Given the description of an element on the screen output the (x, y) to click on. 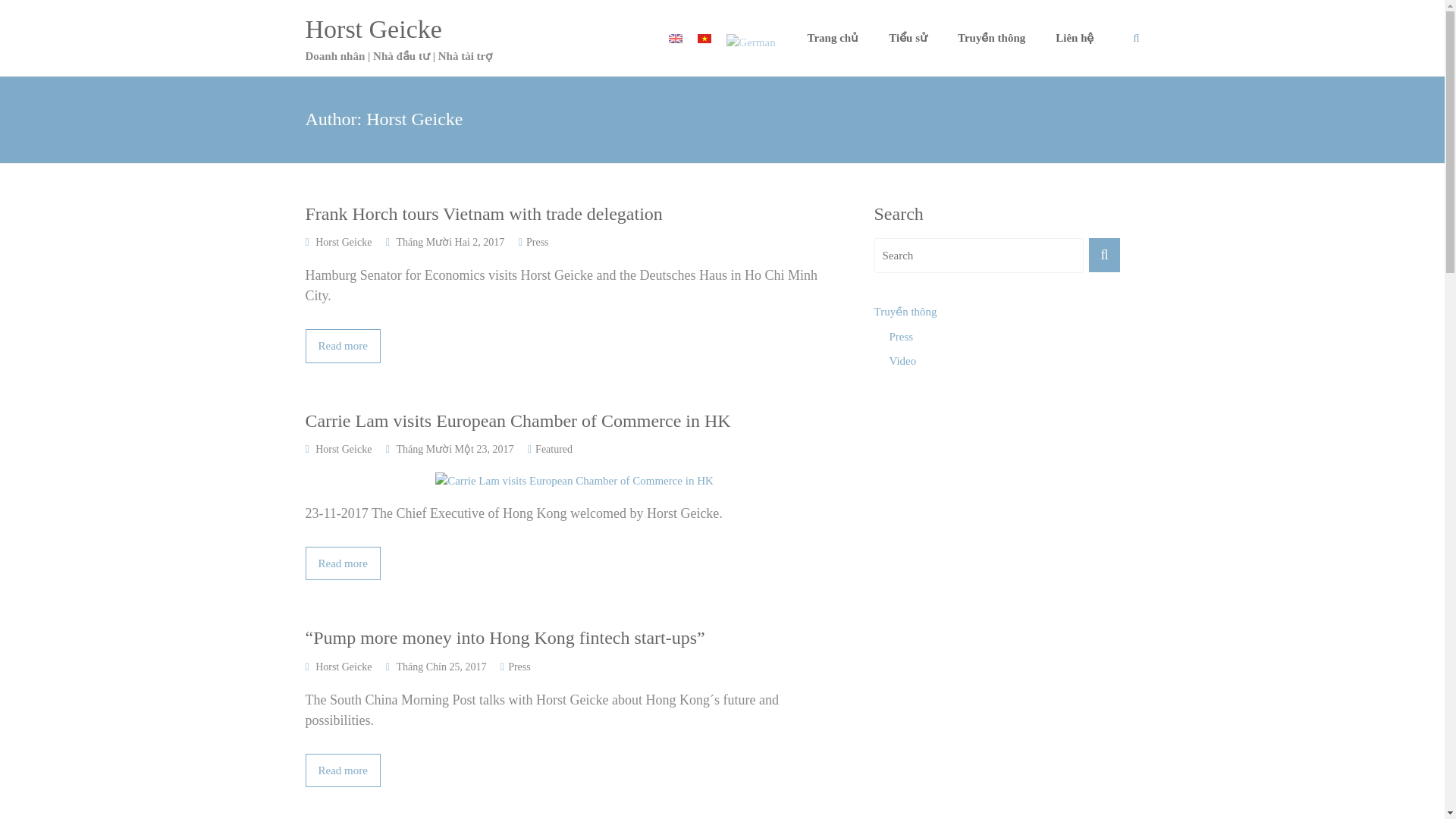
Carrie Lam visits European Chamber of Commerce in HK (573, 421)
Horst Geicke (372, 29)
Press (536, 242)
Press (519, 666)
Carrie Lam visits European Chamber of Commerce in HK (573, 421)
Read more (342, 770)
Read more (342, 563)
Frank Horch tours Vietnam with trade delegation (573, 214)
Frank Horch tours Vietnam with trade delegation (342, 346)
Carrie Lam visits European Chamber of Commerce in HK (574, 480)
